Given the description of an element on the screen output the (x, y) to click on. 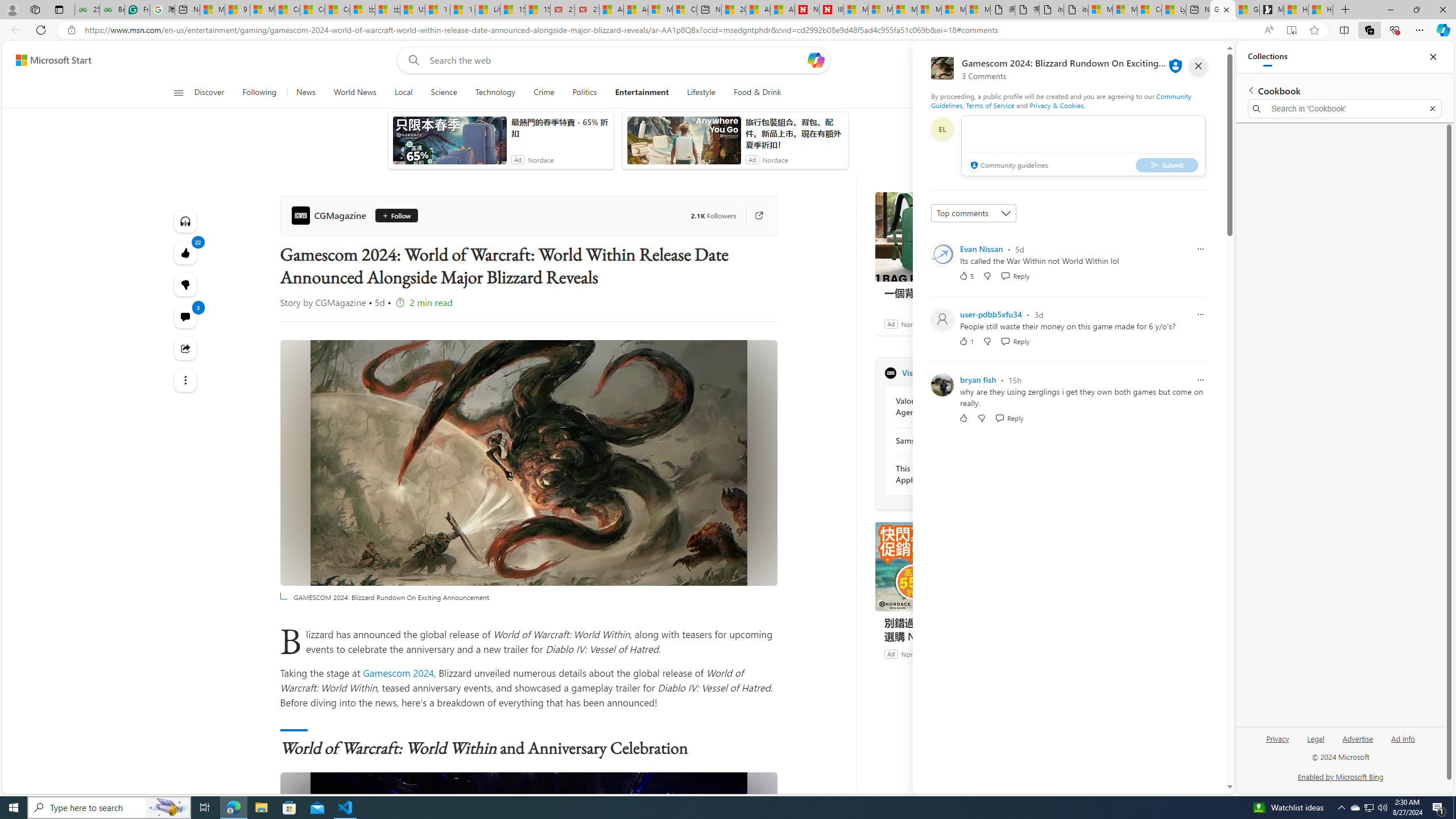
Local (403, 92)
Listen to this article (184, 220)
To get missing image descriptions, open the context menu. (995, 92)
Ad Choice (1032, 653)
Report comment (1200, 379)
Technology (495, 92)
